Given the description of an element on the screen output the (x, y) to click on. 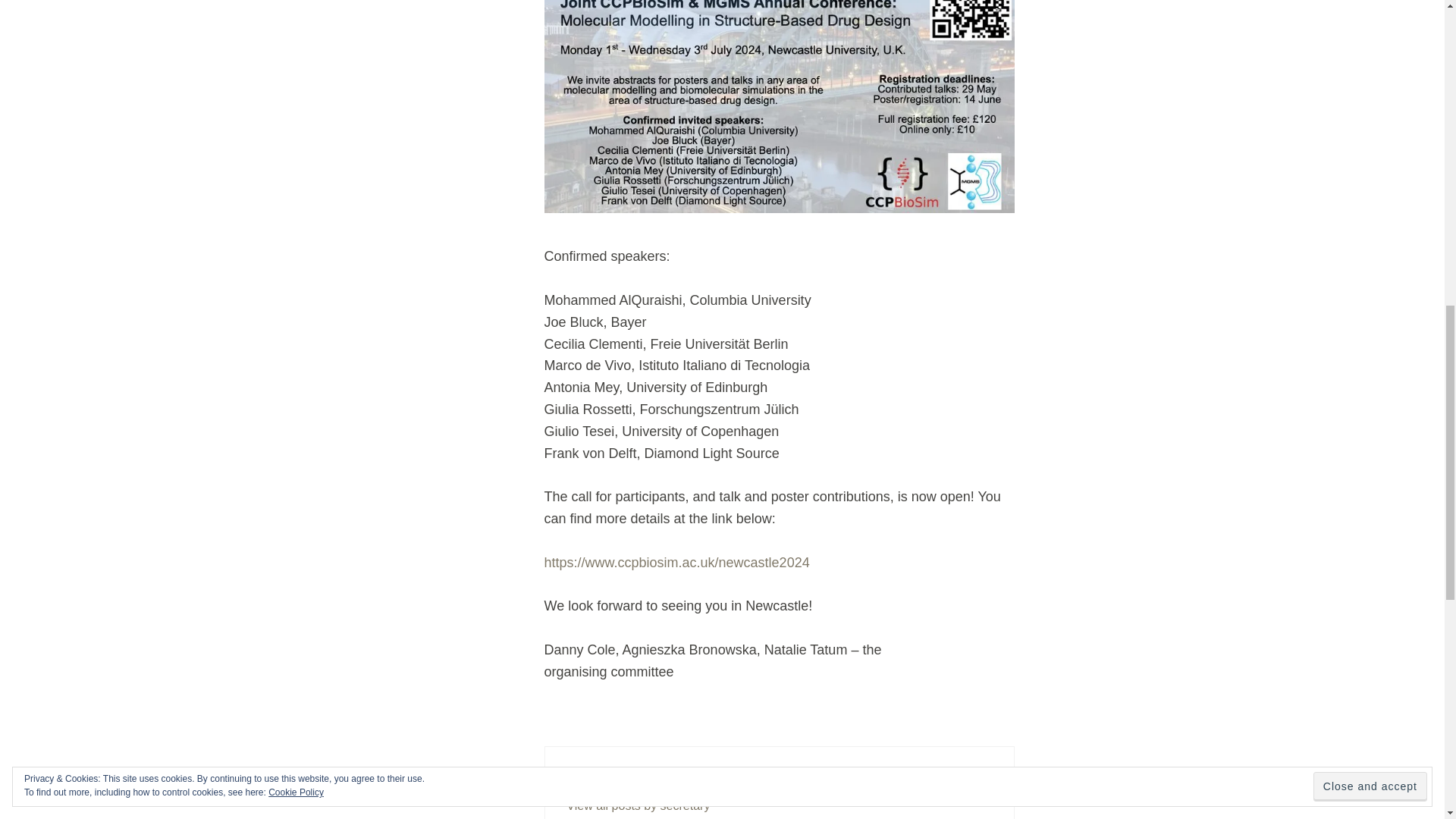
View all posts by secretary (638, 805)
